Given the description of an element on the screen output the (x, y) to click on. 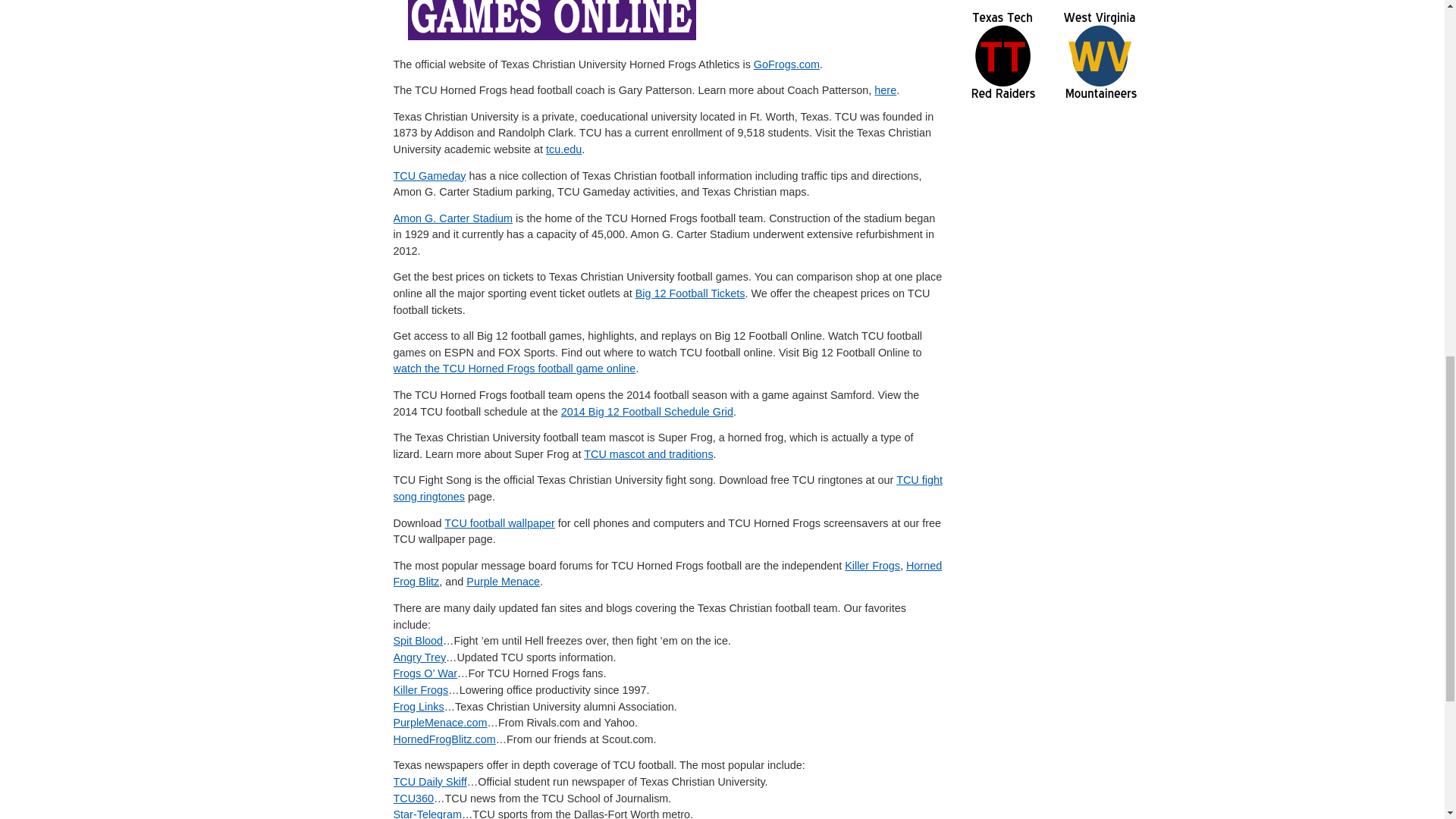
Frog Links (418, 706)
Advertisement (316, 6)
Killer Frogs (420, 689)
TCU Gameday (429, 175)
Big 12 Football Tickets (689, 293)
Killer Frogs (871, 565)
watch the TCU Horned Frogs football game online (513, 368)
here (885, 90)
PurpleMenace.com (439, 722)
GoFrogs.com (786, 64)
